Given the description of an element on the screen output the (x, y) to click on. 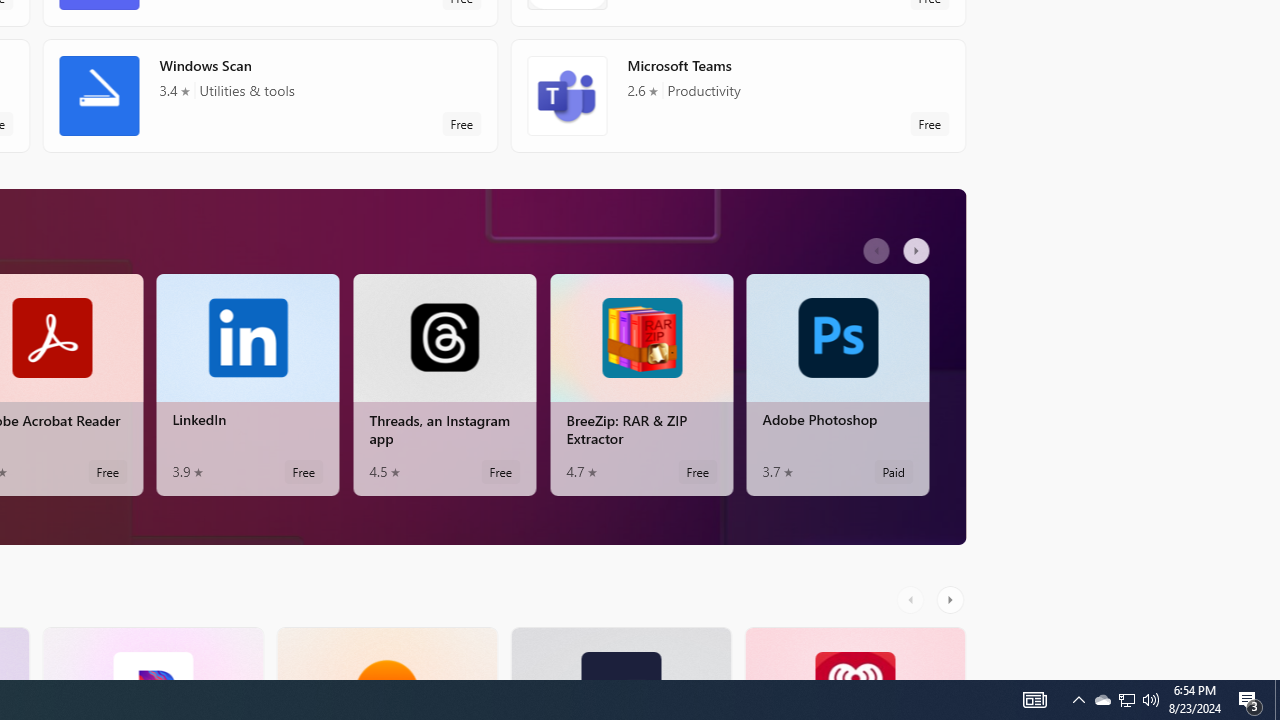
LinkedIn. Average rating of 3.9 out of five stars. Free   (247, 384)
AutomationID: LeftScrollButton (913, 599)
Pandora. Average rating of 4.5 out of five stars. Free   (152, 653)
AutomationID: RightScrollButton (952, 599)
